Given the description of an element on the screen output the (x, y) to click on. 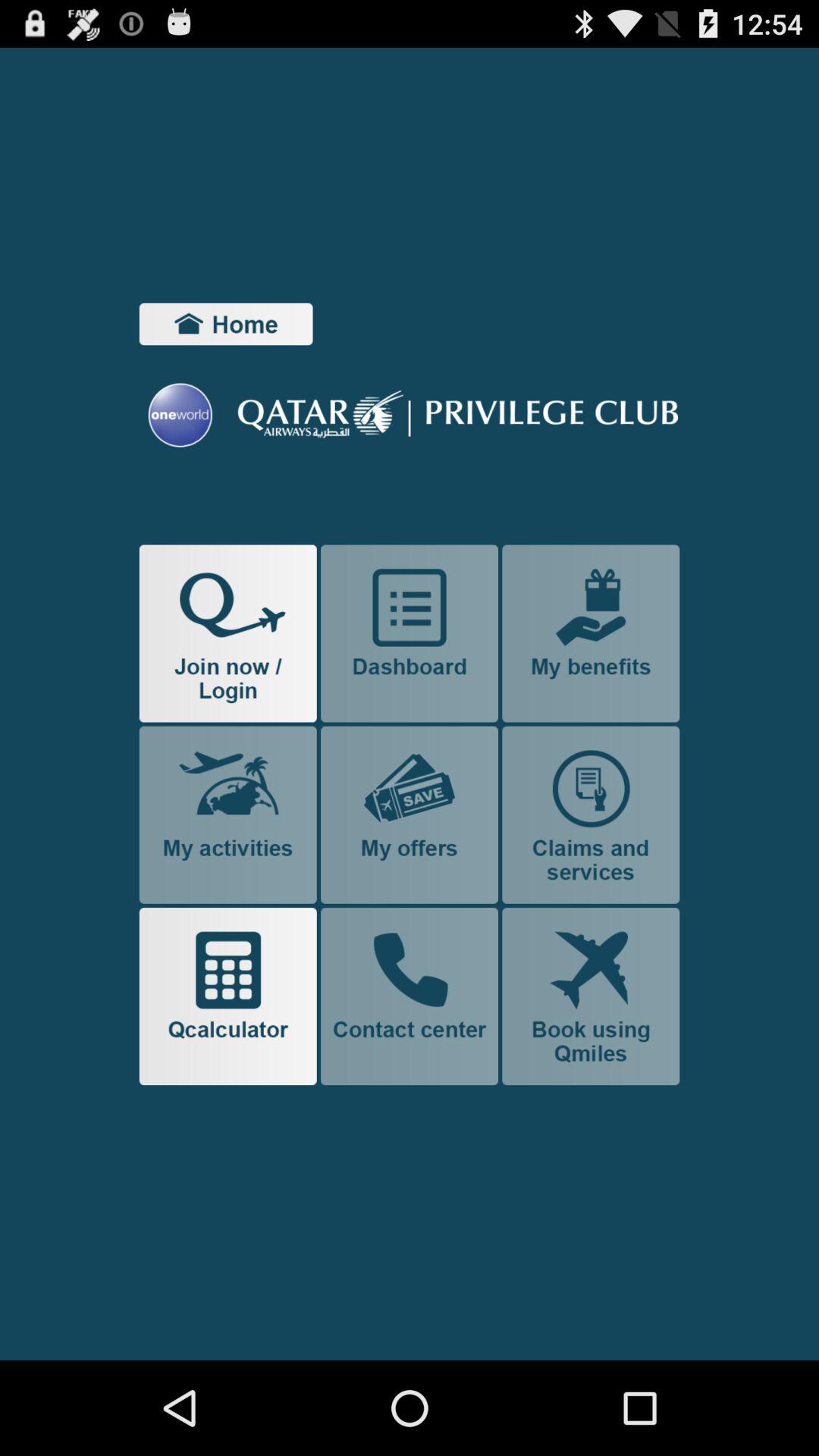
access my benefits -disabled (590, 633)
